Given the description of an element on the screen output the (x, y) to click on. 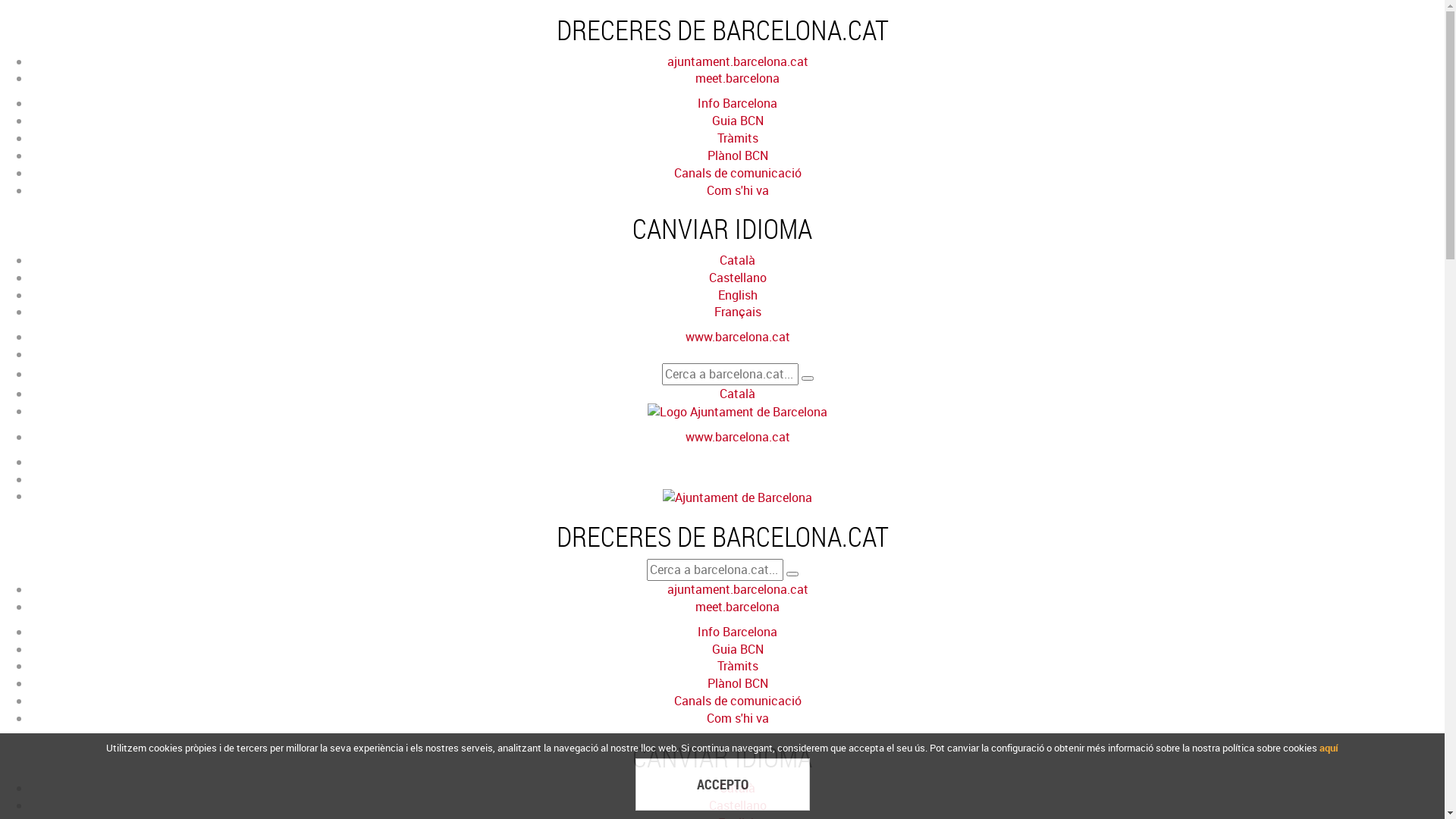
www.barcelona.cat Element type: text (737, 336)
Guia BCN Element type: text (736, 648)
Com s'hi va Element type: text (737, 717)
ajuntament.barcelona.cat Element type: text (737, 588)
Guia BCN Element type: text (736, 120)
English Element type: text (736, 294)
Accepto Element type: text (722, 785)
Castellano Element type: text (736, 805)
Info Barcelona Element type: text (737, 631)
meet.barcelona Element type: text (737, 77)
ajuntament.barcelona.cat Element type: text (737, 61)
Castellano Element type: text (736, 277)
Com s'hi va Element type: text (737, 190)
Info Barcelona Element type: text (737, 102)
meet.barcelona Element type: text (737, 606)
www.barcelona.cat Element type: text (737, 436)
